Given the description of an element on the screen output the (x, y) to click on. 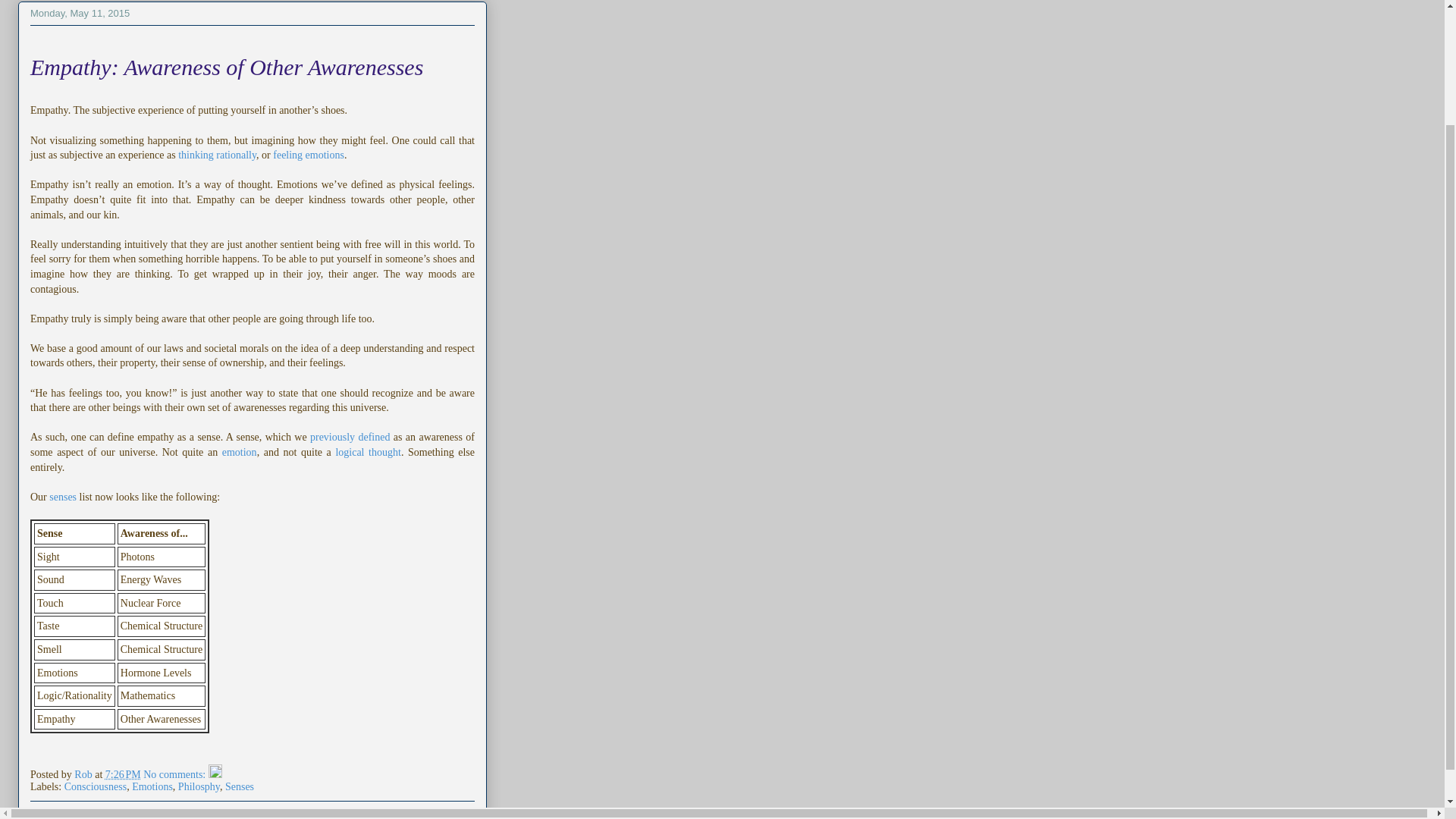
emotion (239, 451)
feeling emotions (308, 154)
thinking rationally (216, 154)
Rob (84, 774)
permanent link (122, 774)
Philosphy (198, 786)
previously defined (350, 437)
Emotions (152, 786)
Senses (239, 786)
author profile (84, 774)
